Given the description of an element on the screen output the (x, y) to click on. 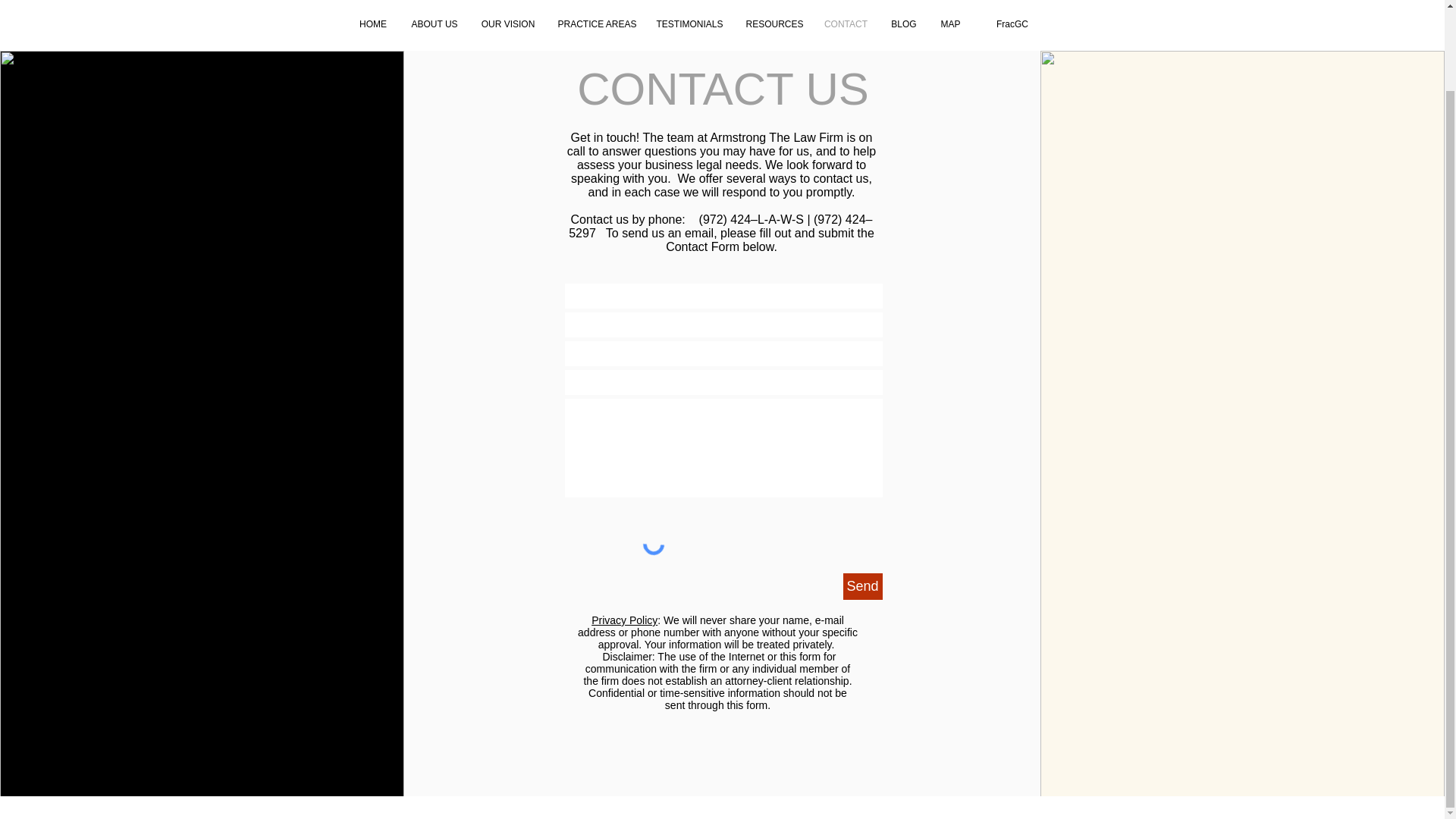
ABOUT US (433, 24)
BLOG (903, 24)
MAP (950, 24)
FracGC (1012, 24)
HOME (372, 24)
Privacy Policy (624, 620)
RESOURCES (772, 24)
CONTACT (845, 24)
Send (862, 586)
OUR VISION (508, 24)
PRACTICE AREAS (595, 24)
TESTIMONIALS (689, 24)
